Given the description of an element on the screen output the (x, y) to click on. 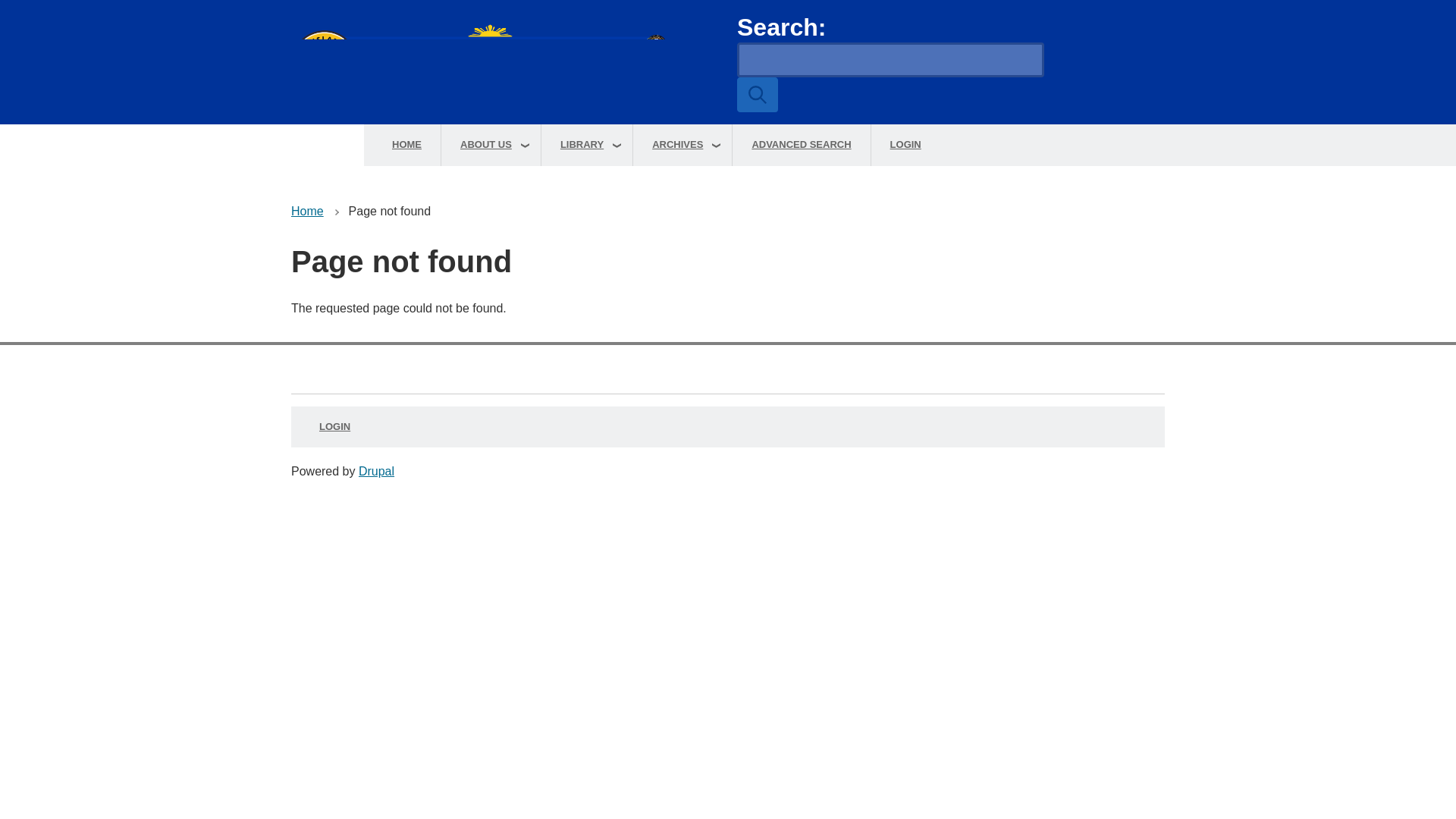
ABOUT US (490, 145)
Search (756, 94)
Home (505, 62)
LIBRARY (586, 145)
About Us (490, 145)
Library (586, 145)
HOME (406, 145)
Search (756, 94)
